Given the description of an element on the screen output the (x, y) to click on. 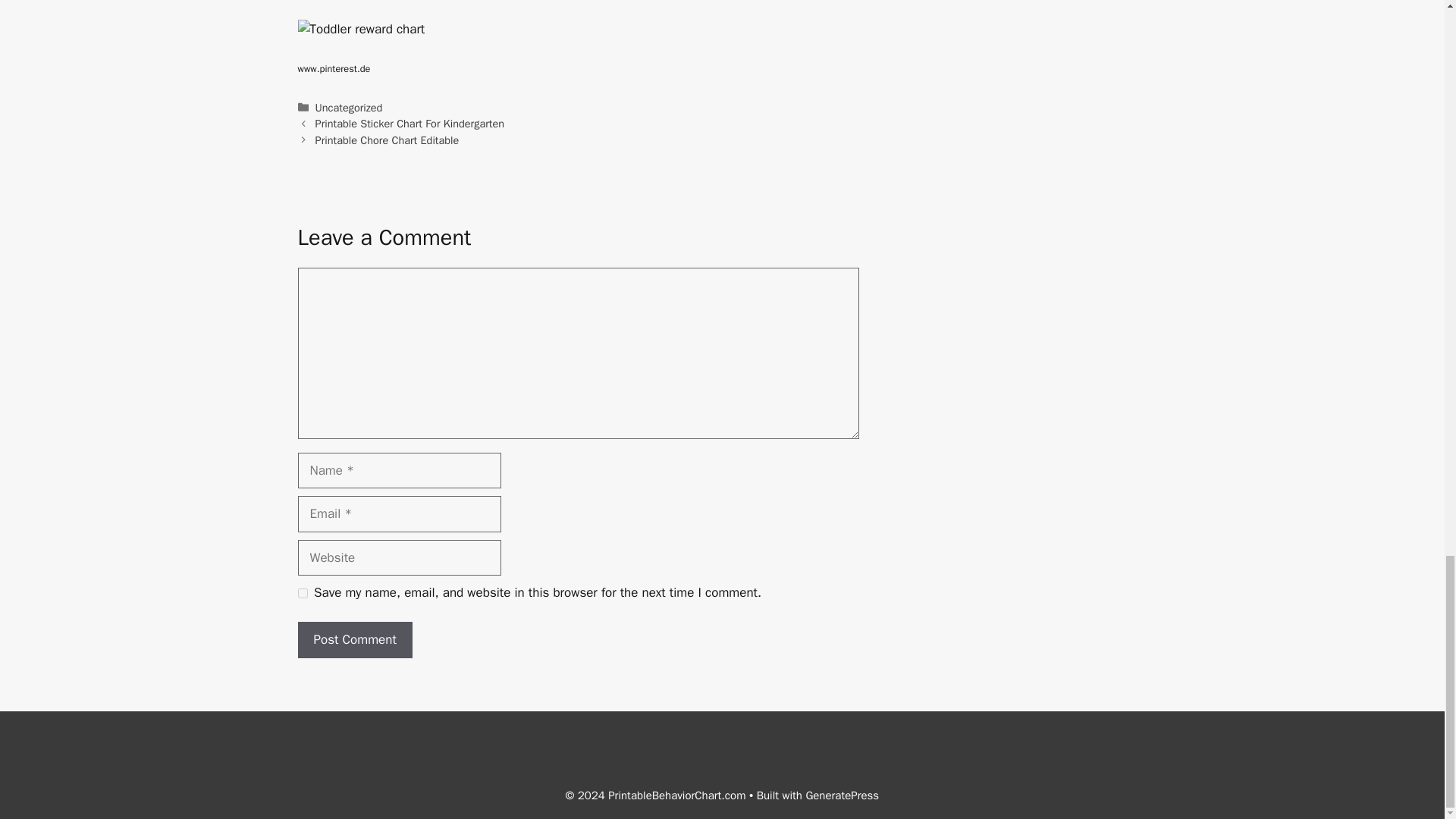
yes (302, 593)
Printable Chore Chart Editable (387, 140)
Uncategorized (348, 107)
Post Comment (354, 639)
Printable Sticker Chart For Kindergarten (409, 123)
Post Comment (354, 639)
GeneratePress (842, 795)
